Given the description of an element on the screen output the (x, y) to click on. 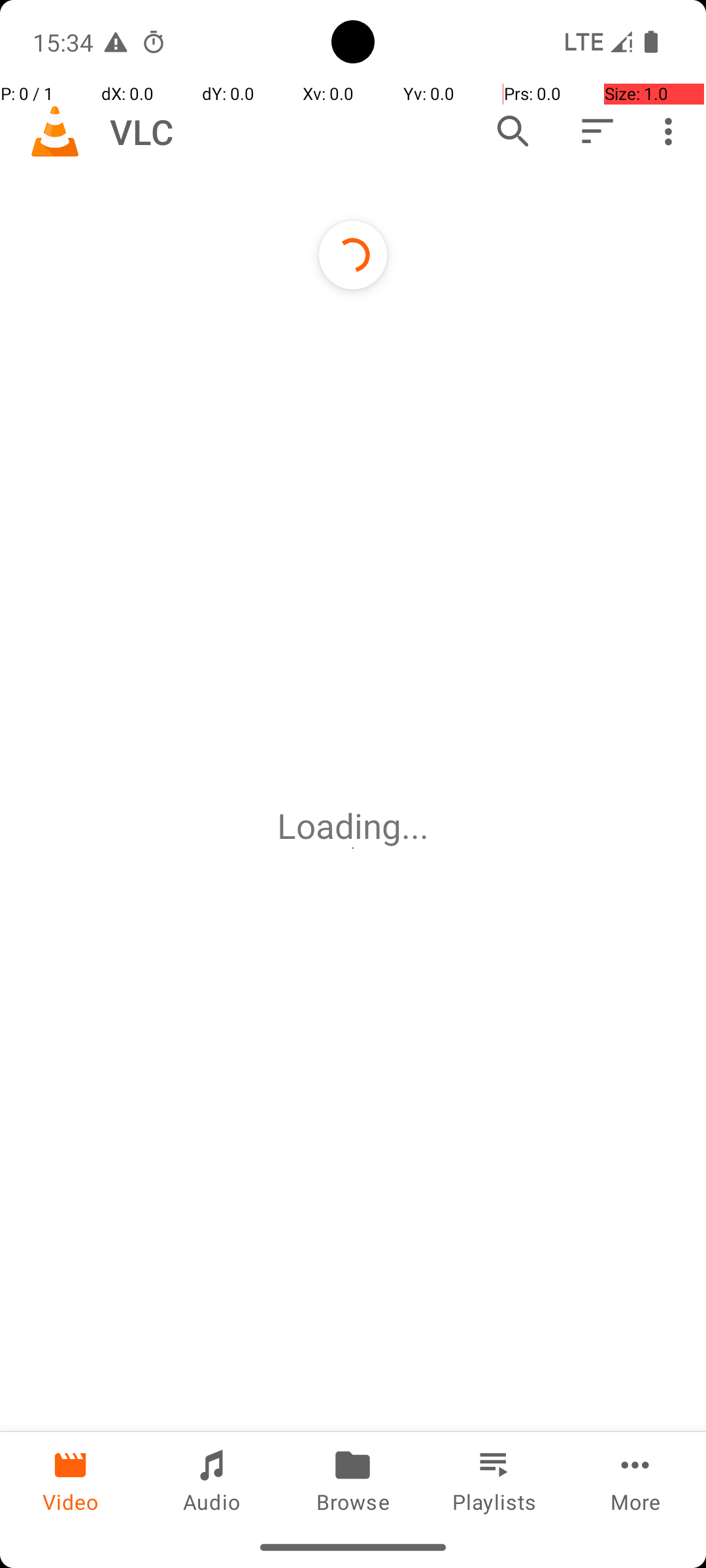
... Element type: android.widget.TextView (414, 825)
